Given the description of an element on the screen output the (x, y) to click on. 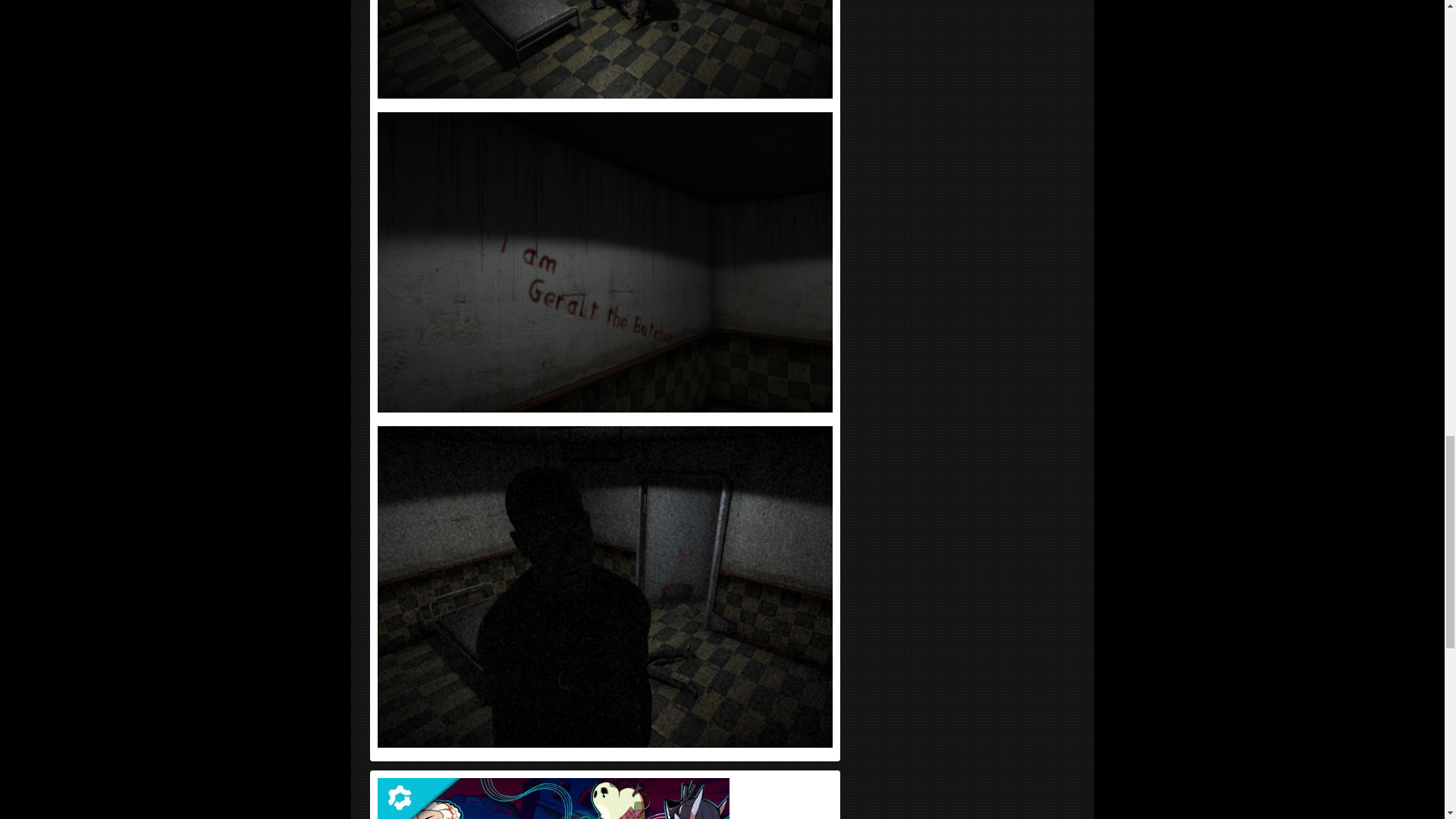
Geralt the Butcher - Indie DB (604, 261)
